Given the description of an element on the screen output the (x, y) to click on. 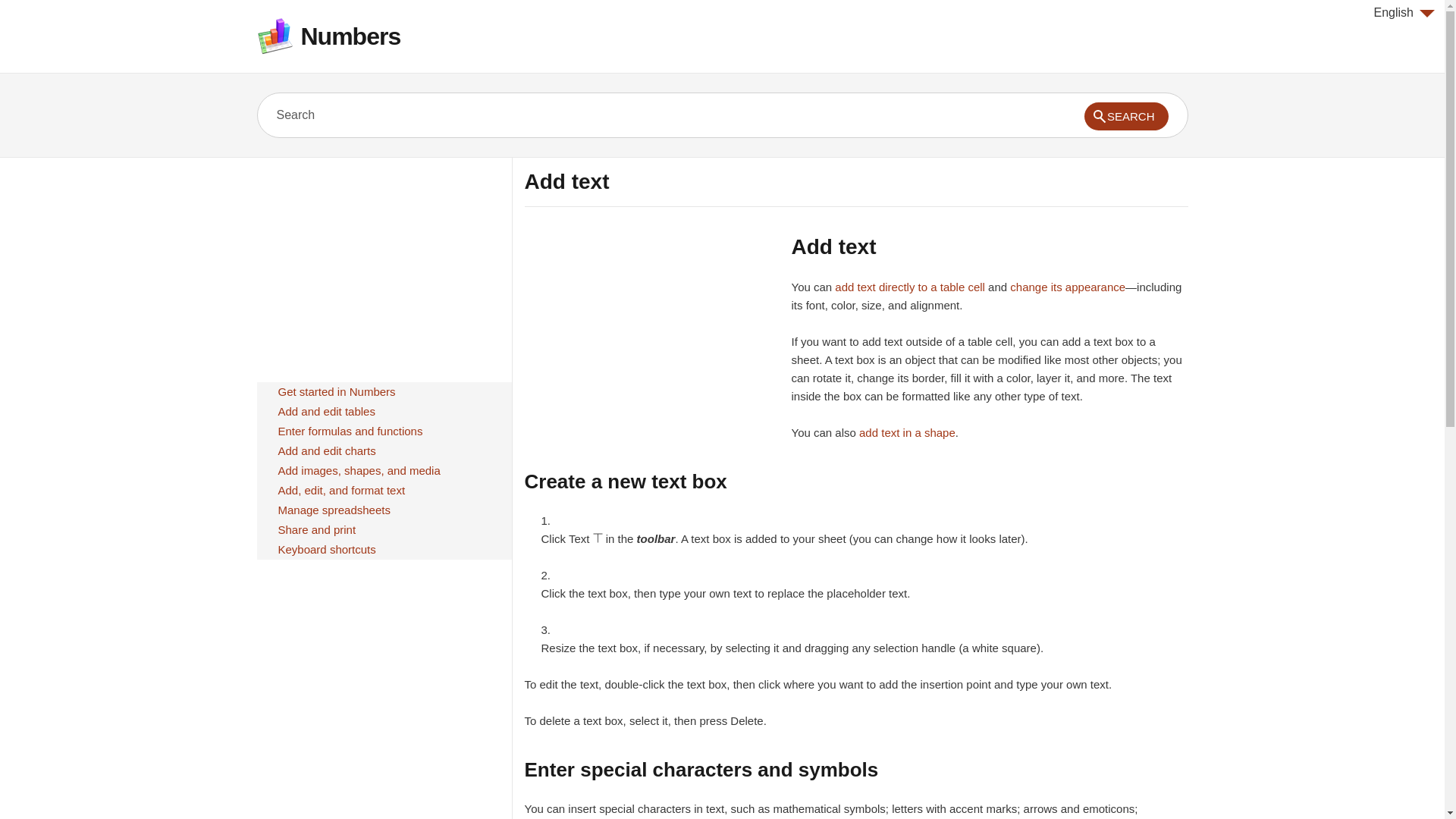
Advertisement (651, 340)
Numbers (349, 35)
Search (629, 115)
Advertisement (383, 264)
